Given the description of an element on the screen output the (x, y) to click on. 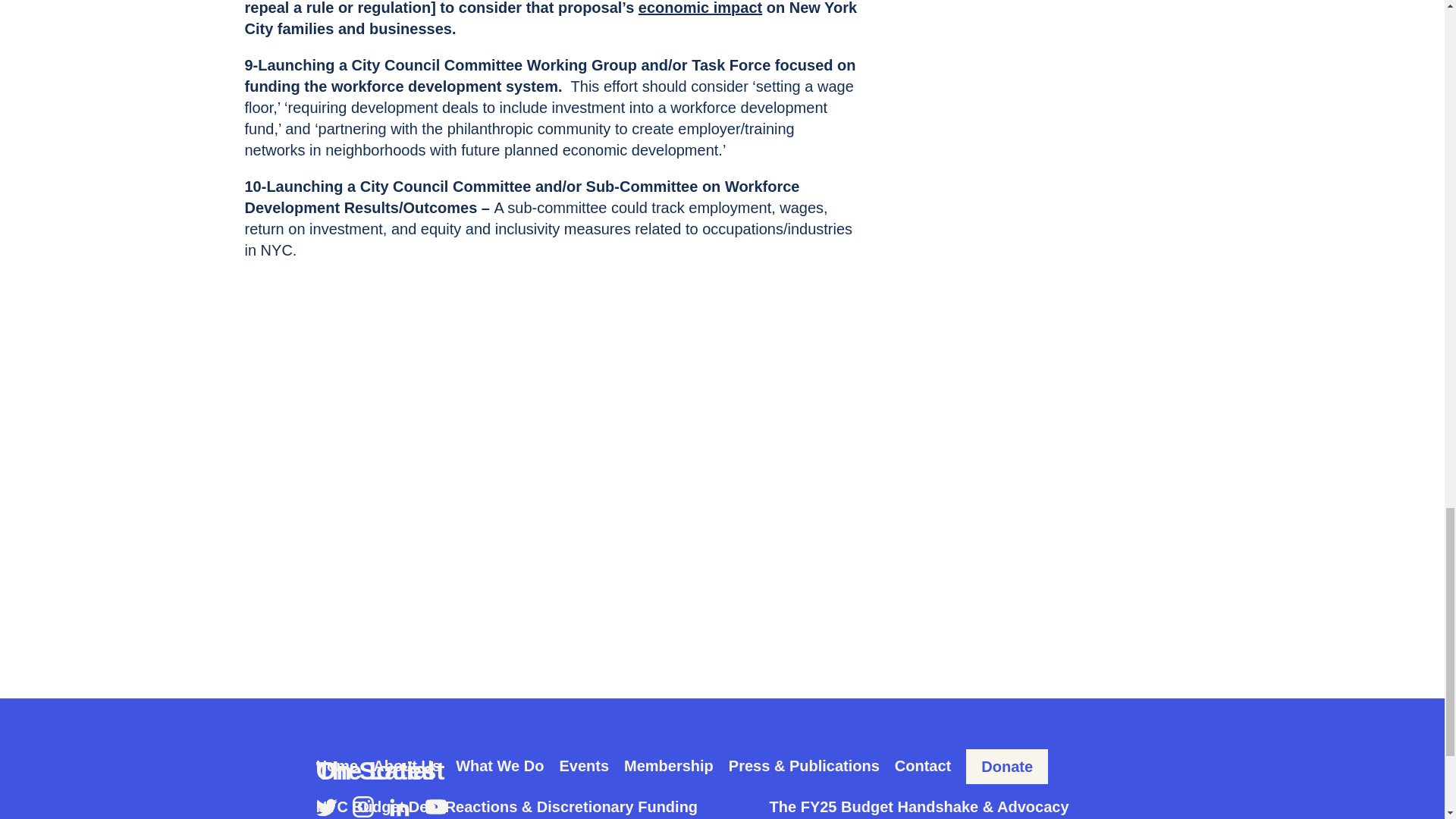
Home (336, 765)
Contact (922, 765)
LinkedIn (399, 806)
Events (583, 765)
What We Do (499, 765)
YouTube (435, 806)
Twitter (326, 806)
About Us (406, 765)
Donate (1007, 766)
Instagram (363, 806)
Membership (668, 765)
